Given the description of an element on the screen output the (x, y) to click on. 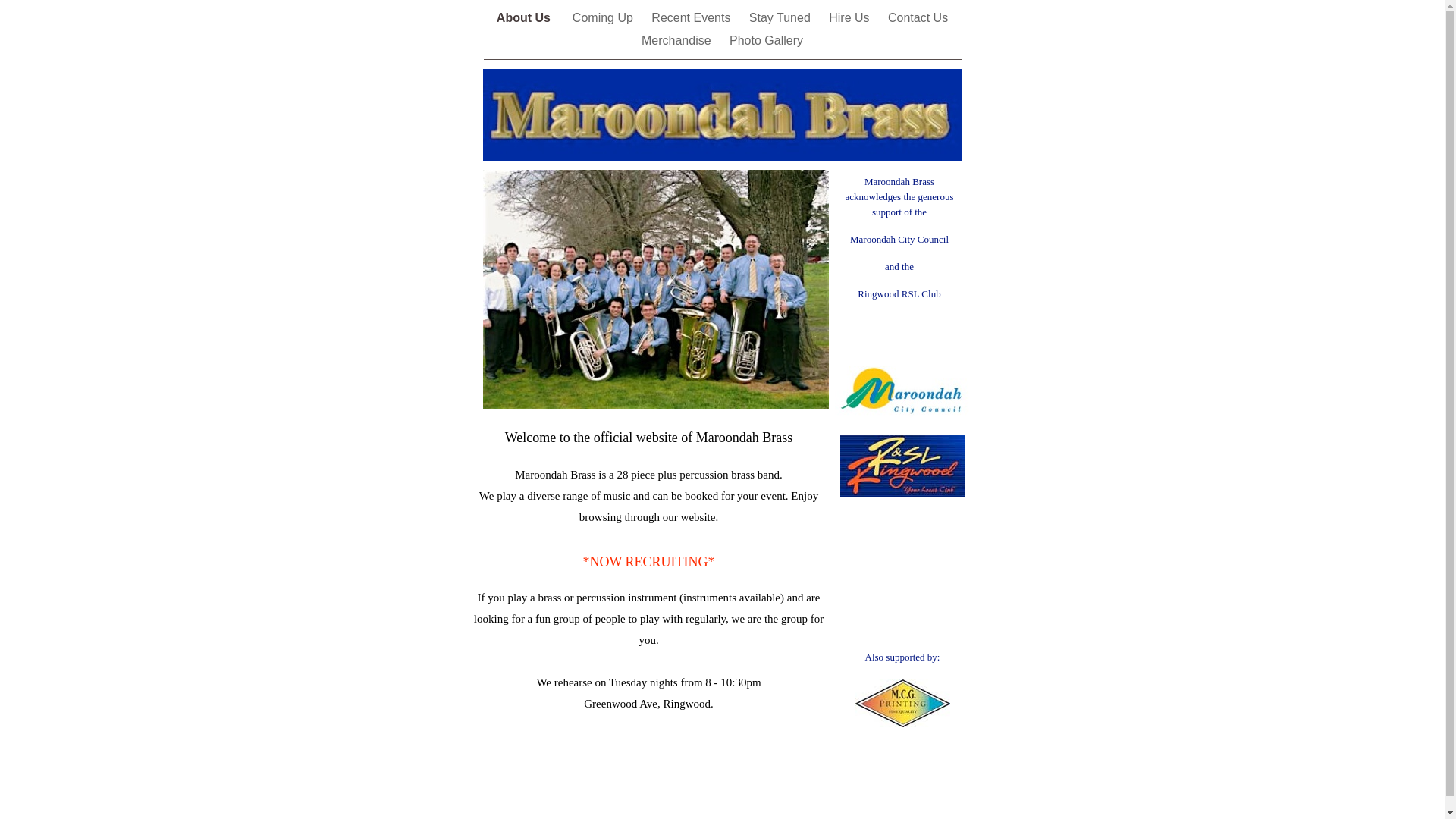
http://www.ringwoodrsl.com.au/ Element type: hover (902, 496)
Photo Gallery Element type: text (766, 40)
http://www.mcgprinting.com.au Element type: hover (902, 726)
Hire Us Element type: text (850, 17)
About Us  Element type: text (526, 17)
Stay Tuned Element type: text (781, 17)
Contact Us Element type: text (917, 17)
http://www.maroondah.vic.gov.au/ Element type: hover (902, 418)
Recent Events Element type: text (692, 17)
Merchandise Element type: text (677, 40)
Coming Up Element type: text (604, 17)
